Given the description of an element on the screen output the (x, y) to click on. 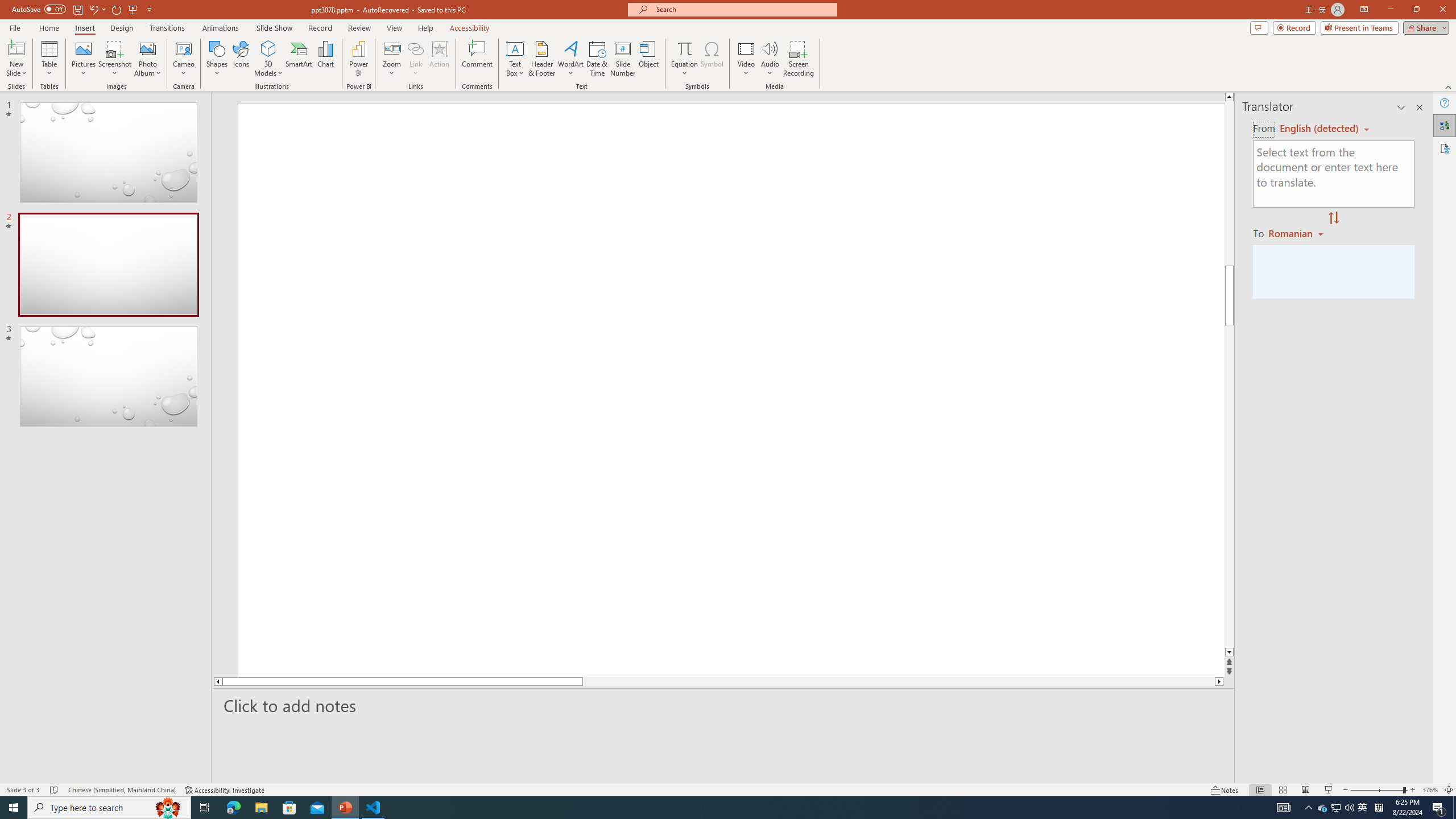
Equation (683, 58)
Equation (683, 48)
Zoom 376% (1430, 790)
